Given the description of an element on the screen output the (x, y) to click on. 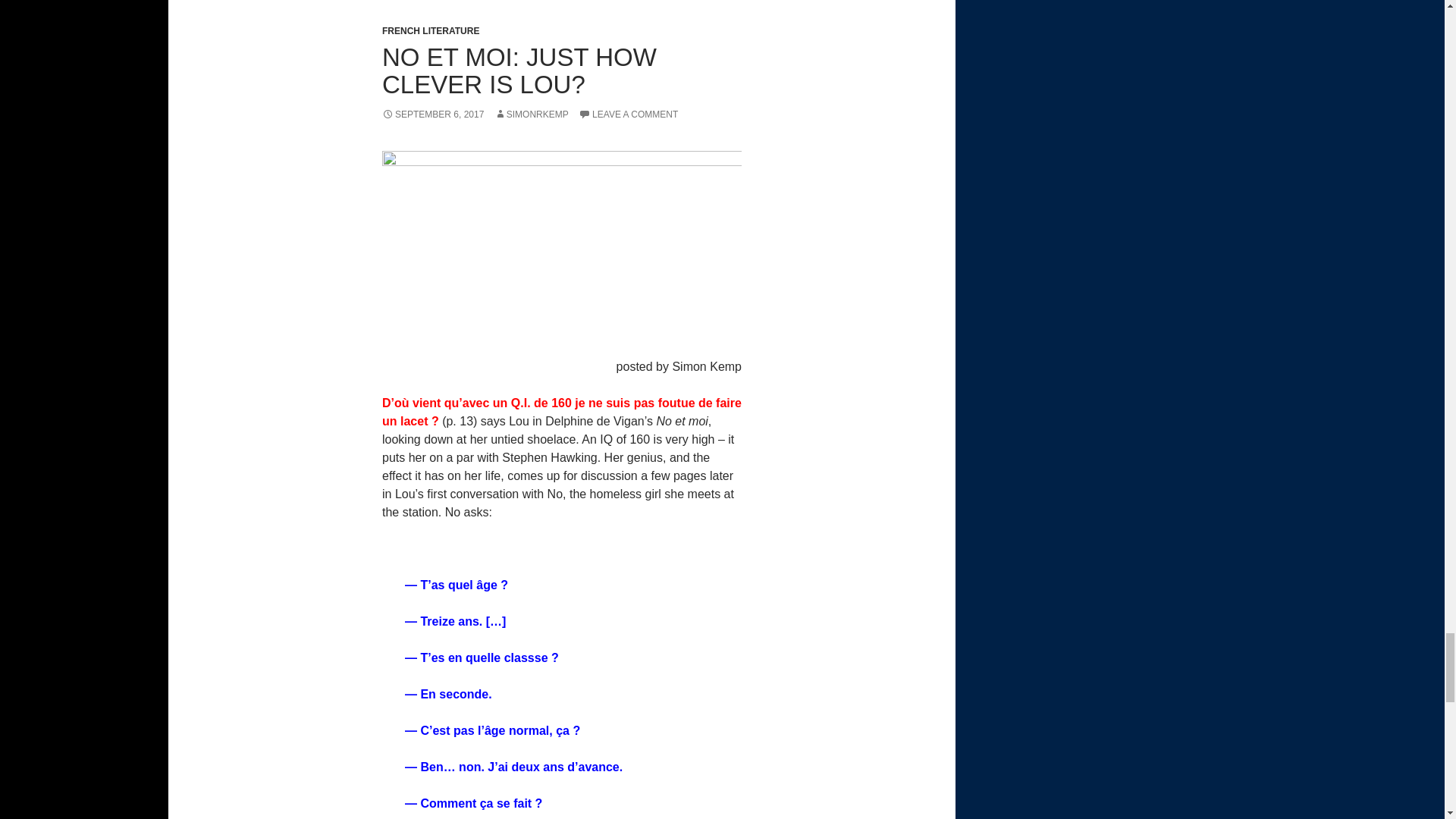
NO ET MOI: JUST HOW CLEVER IS LOU? (518, 70)
SEPTEMBER 6, 2017 (432, 113)
LEAVE A COMMENT (628, 113)
FRENCH LITERATURE (430, 30)
SIMONRKEMP (532, 113)
